Given the description of an element on the screen output the (x, y) to click on. 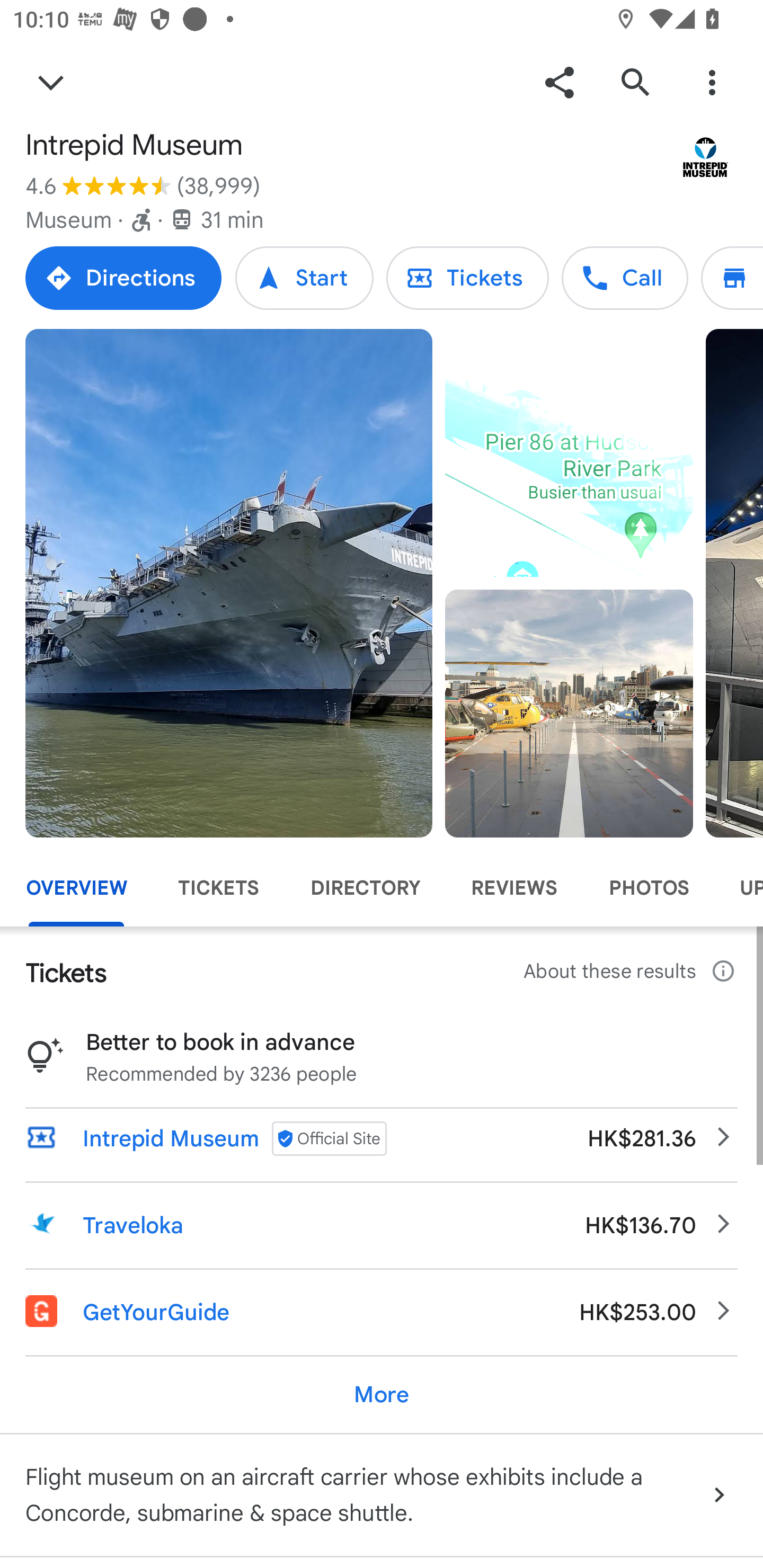
Back to Search (50, 81)
Share (559, 81)
Search (635, 81)
More options for Intrepid Museum (711, 81)
Start Start Start (304, 277)
Tickets (467, 277)
Directory Directory Directory (732, 277)
Photo (228, 583)
Video (568, 453)
Photo (568, 713)
TICKETS Tickets (218, 887)
DIRECTORY Directory (364, 887)
REVIEWS Reviews (513, 887)
PHOTOS Photos (648, 887)
About these results (630, 970)
Intrepid Museum Official Site HK$281.36 (381, 1138)
Traveloka HK$136.70 (381, 1225)
GetYourGuide HK$253.00 (381, 1312)
More More More (381, 1394)
